Given the description of an element on the screen output the (x, y) to click on. 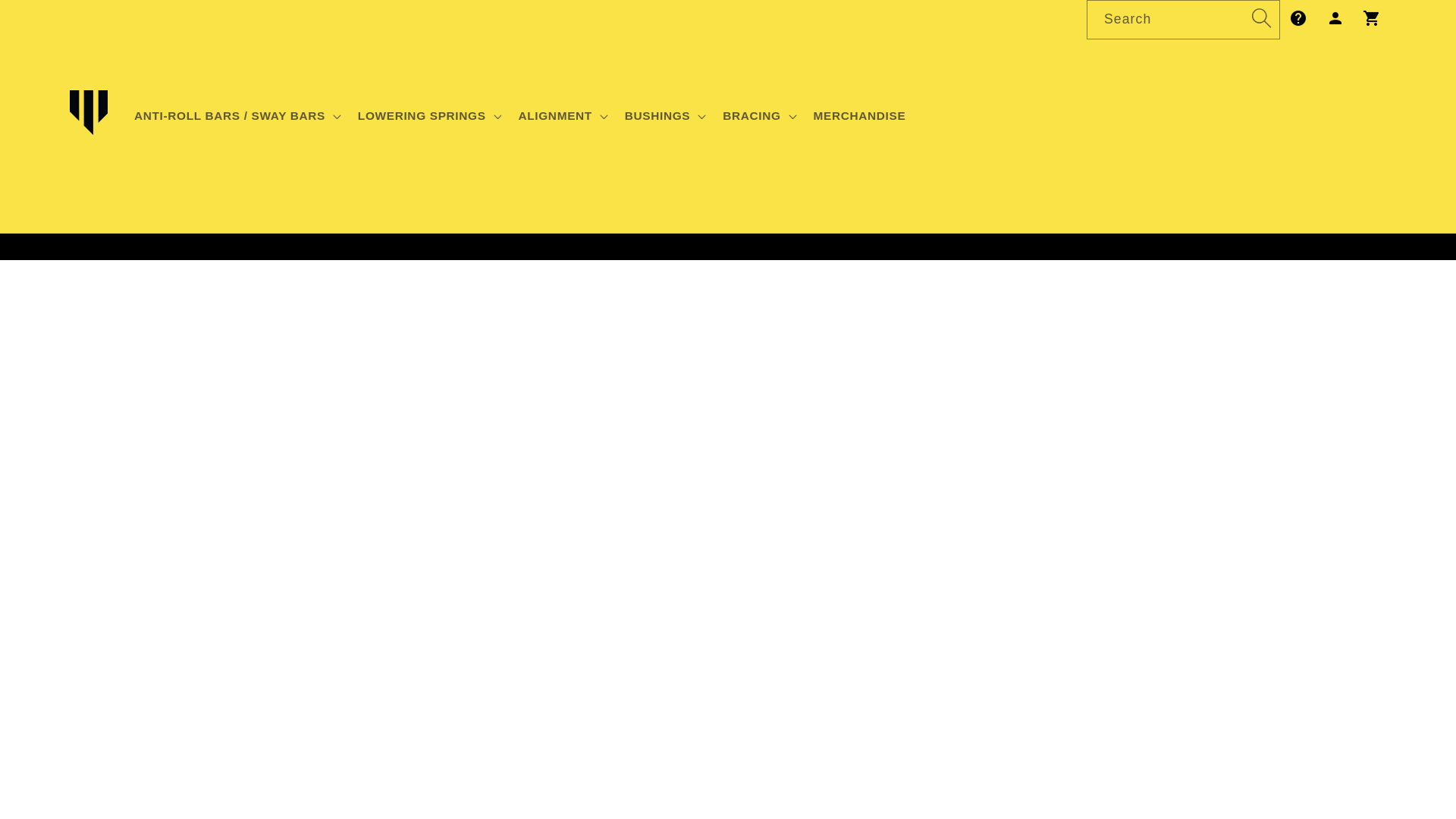
Skip to content (50, 19)
